Given the description of an element on the screen output the (x, y) to click on. 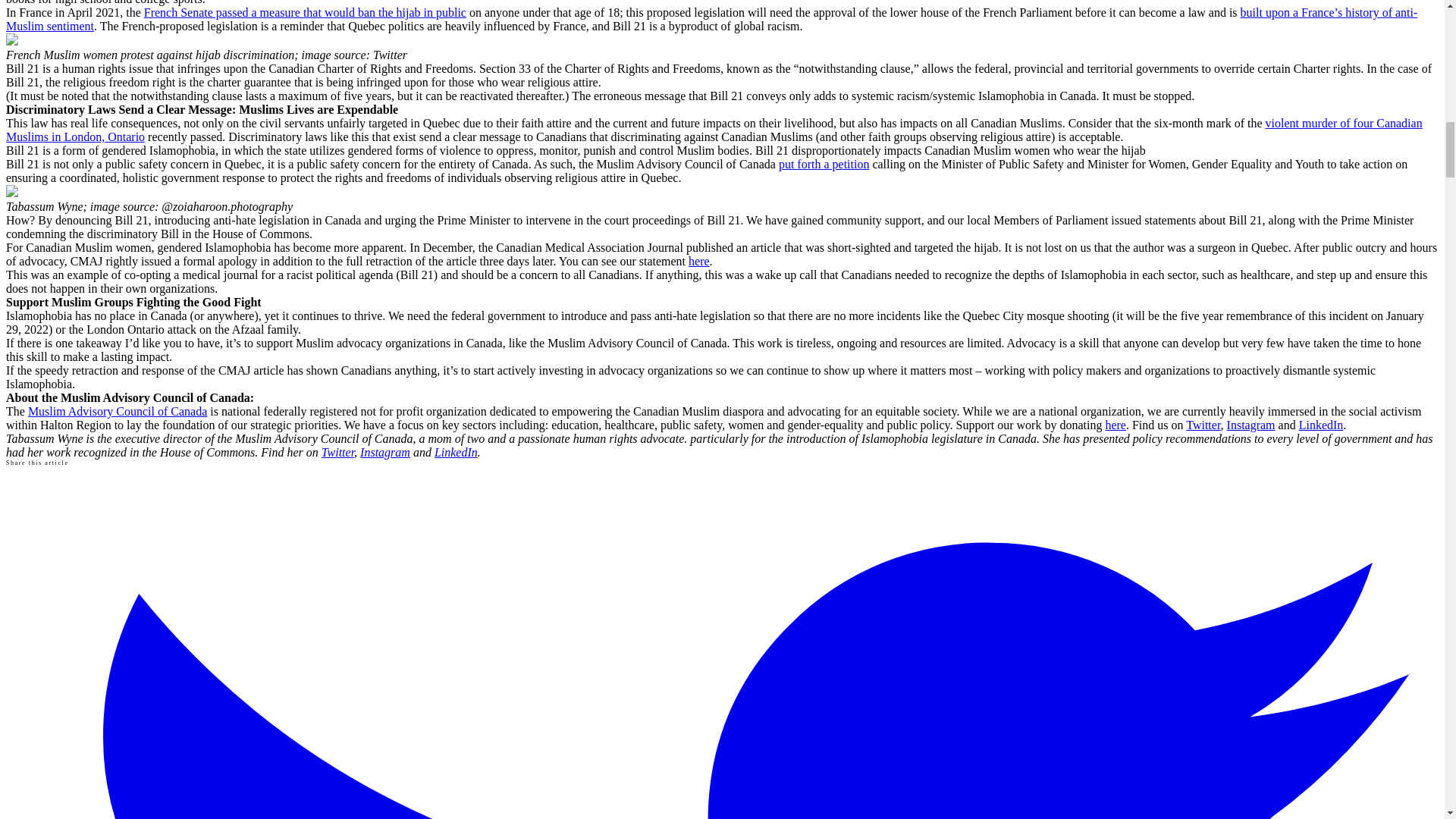
Twitter (337, 451)
Muslim Advisory Council of Canada (116, 410)
LinkedIn (455, 451)
here (1115, 424)
Instagram (384, 451)
Twitter (1203, 424)
put forth a petition (823, 164)
here (699, 260)
violent murder of four Canadian Muslims in London, Ontario (713, 130)
